Given the description of an element on the screen output the (x, y) to click on. 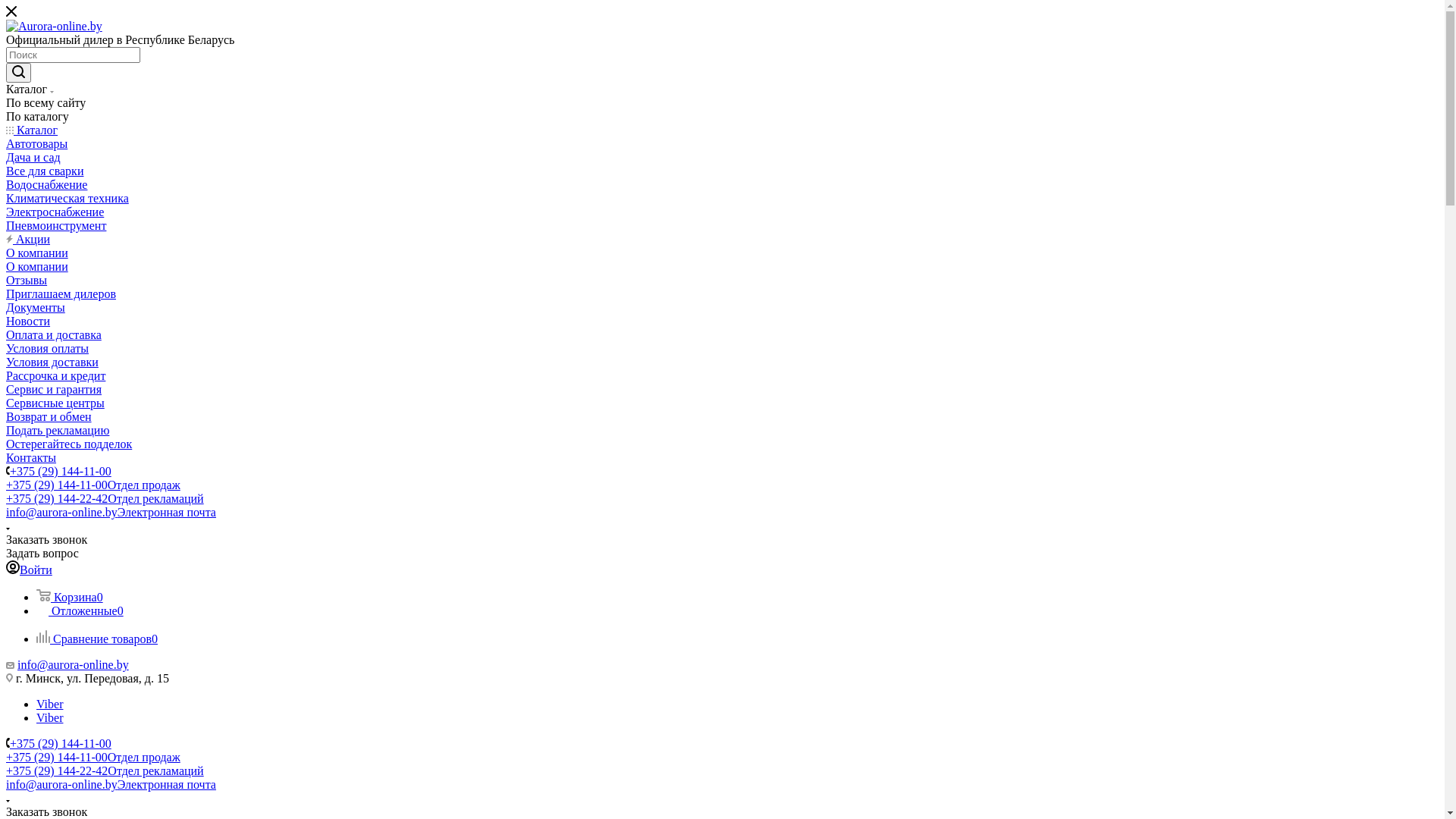
+375 (29) 144-11-00 Element type: text (60, 470)
Viber Element type: text (49, 703)
+375 (29) 144-11-00 Element type: text (60, 743)
Viber Element type: text (49, 717)
info@aurora-online.by Element type: text (72, 664)
Aurora-online.by Element type: hover (54, 26)
